Given the description of an element on the screen output the (x, y) to click on. 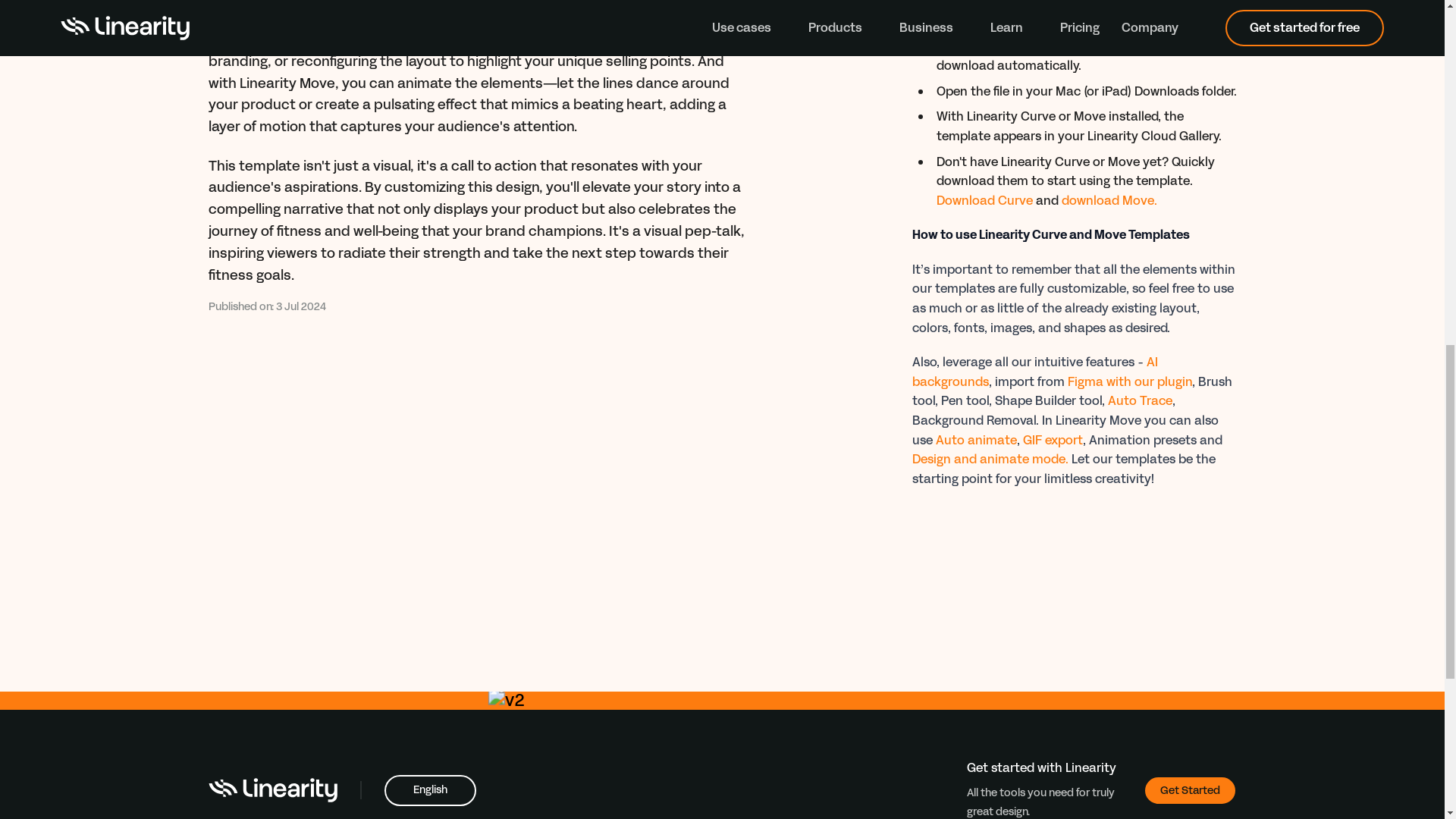
Design and animate mode. (989, 458)
English (430, 789)
Auto Trace (1139, 400)
Figma with our plugin (1129, 381)
AI backgrounds (1034, 371)
GIF export (1051, 439)
Download Curve (984, 200)
English (430, 789)
Auto animate (976, 439)
Get Started (1189, 790)
